Given the description of an element on the screen output the (x, y) to click on. 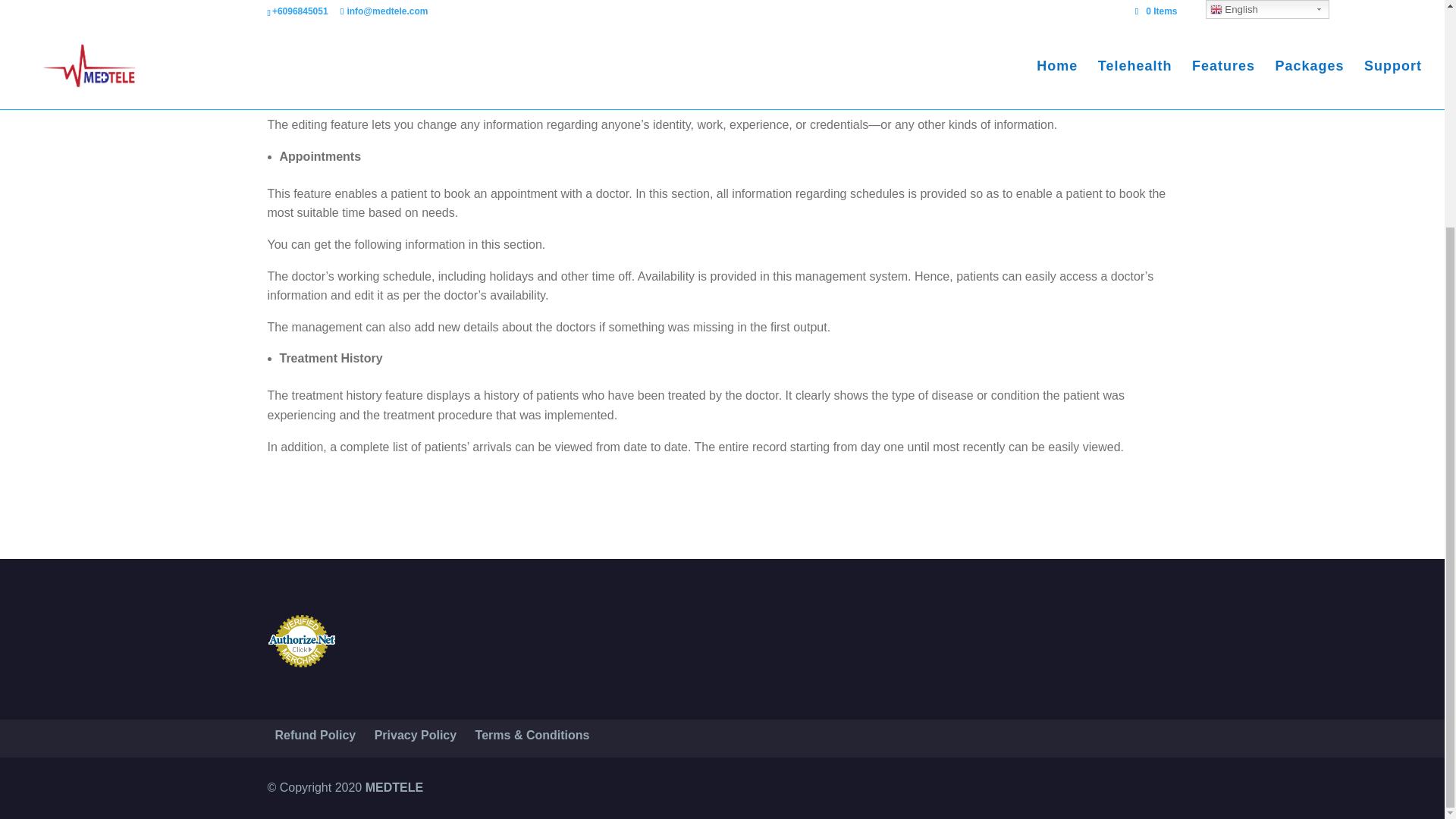
MEDTELE (394, 787)
Privacy Policy (415, 735)
Refund Policy (315, 735)
